Given the description of an element on the screen output the (x, y) to click on. 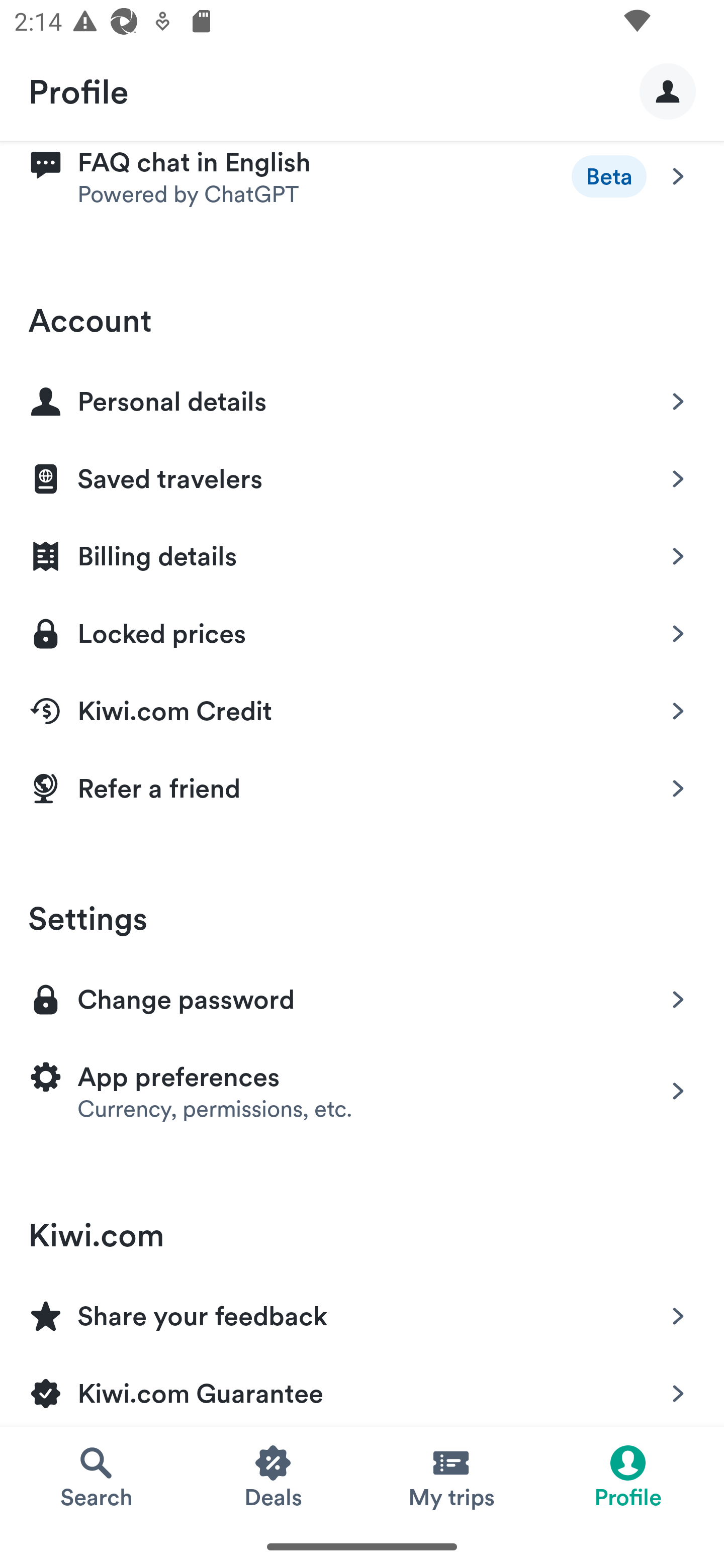
profile picture (667, 90)
Beta FAQ chat in English Powered by ChatGPT (362, 184)
Personal details (362, 398)
Saved travelers (362, 475)
Billing details (362, 552)
Locked prices (362, 630)
Kiwi.com Credit (362, 707)
Refer a friend (362, 788)
Change password (362, 998)
App preferences Currency, permissions, etc. (362, 1090)
Share your feedback (362, 1312)
Kiwi.com Guarantee (362, 1388)
Search (95, 1475)
Deals (273, 1475)
My trips (450, 1475)
